Given the description of an element on the screen output the (x, y) to click on. 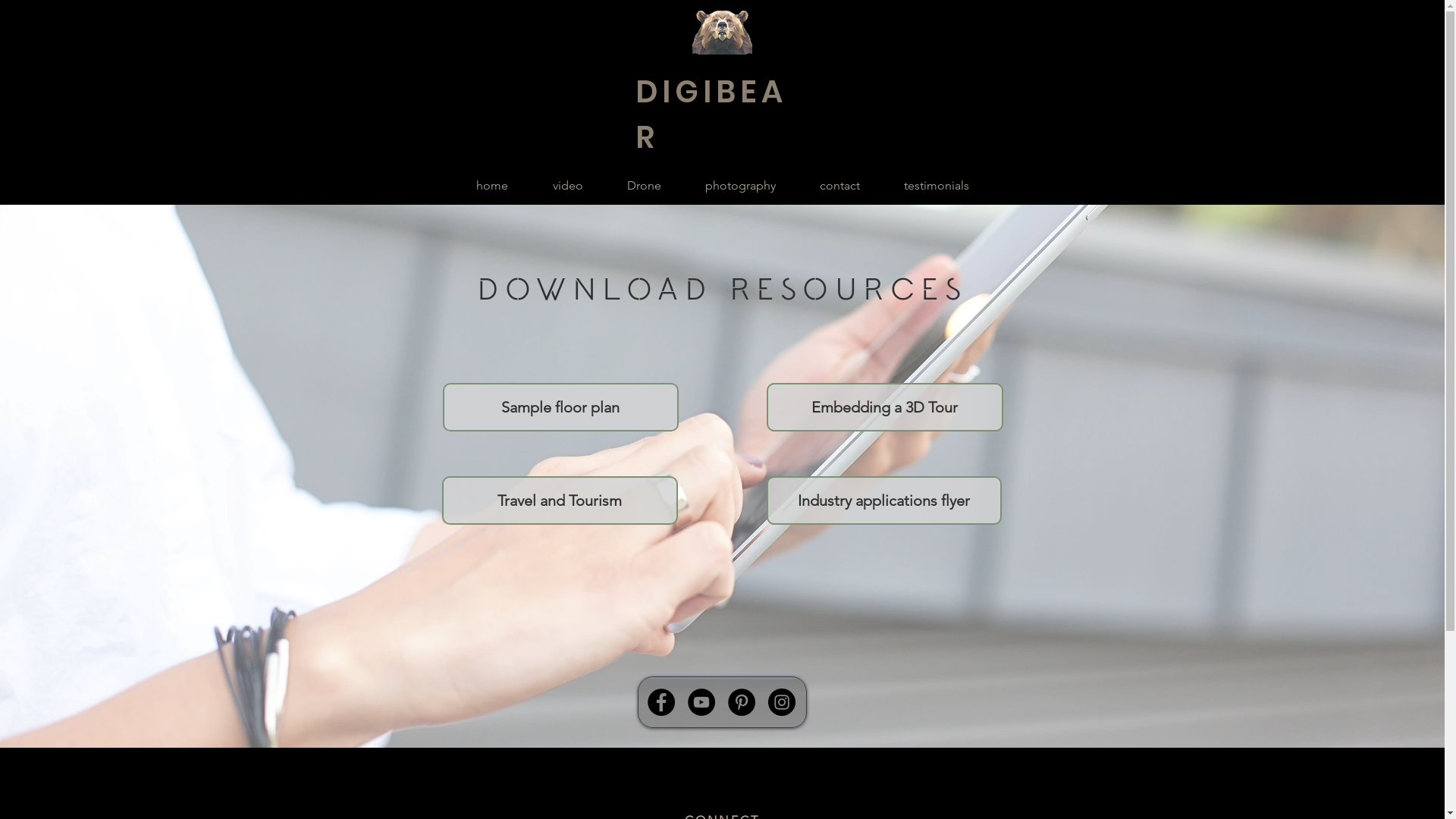
video Element type: text (567, 185)
testimonials Element type: text (935, 185)
Drone Element type: text (644, 185)
Sample floor plan Element type: text (560, 406)
Travel and Tourism Element type: text (559, 500)
Industry applications flyer Element type: text (883, 500)
contact Element type: text (839, 185)
home Element type: text (491, 185)
Asset 5_2x_edited.png Element type: hover (721, 32)
photography Element type: text (739, 185)
Embedding a 3D Tour Element type: text (883, 406)
